Given the description of an element on the screen output the (x, y) to click on. 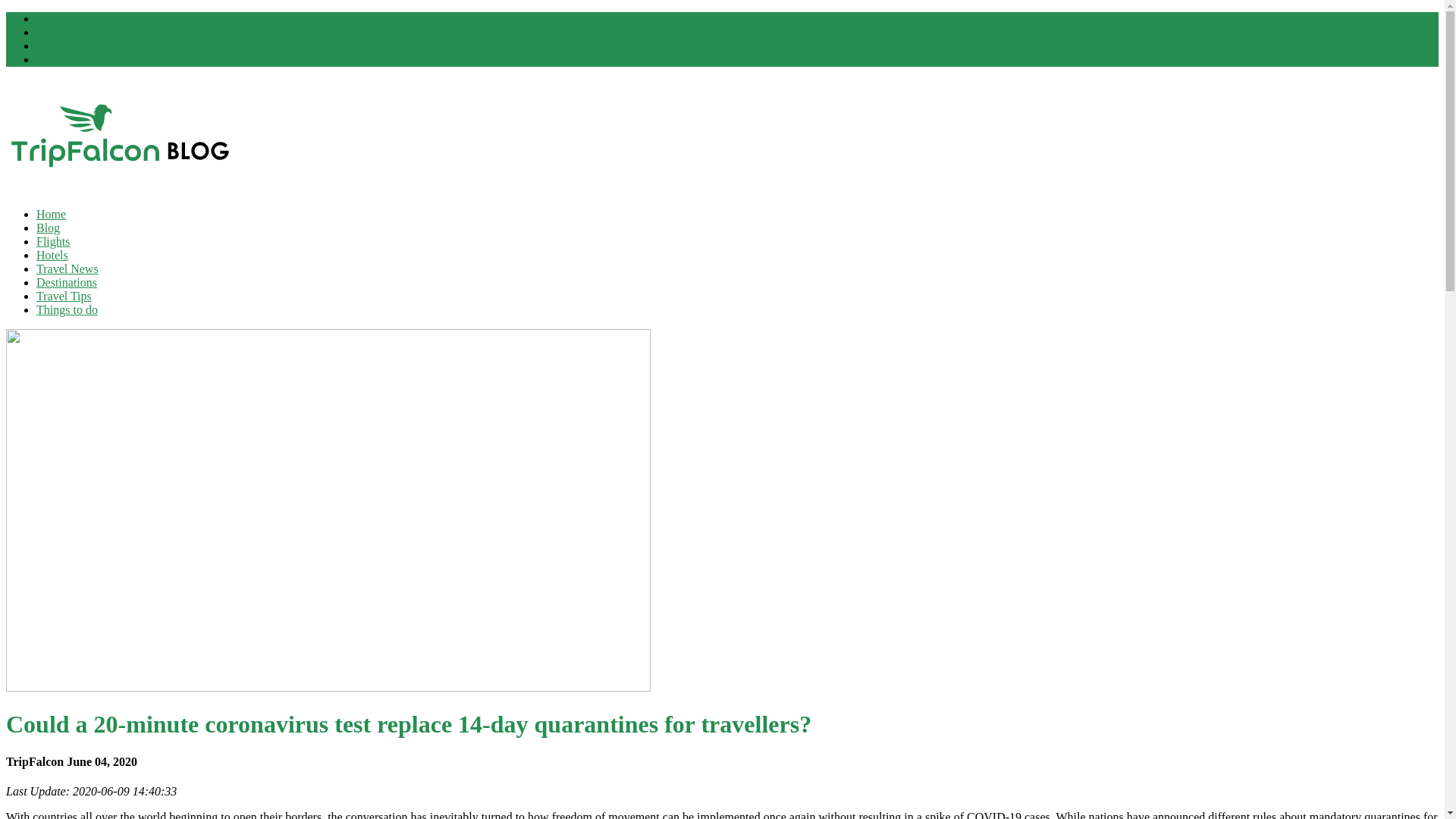
Home (50, 214)
Things to do (66, 309)
Flights (52, 241)
Destinations (66, 282)
Blog (47, 227)
Hotels (52, 254)
Travel News (67, 268)
Travel Tips (63, 295)
